Given the description of an element on the screen output the (x, y) to click on. 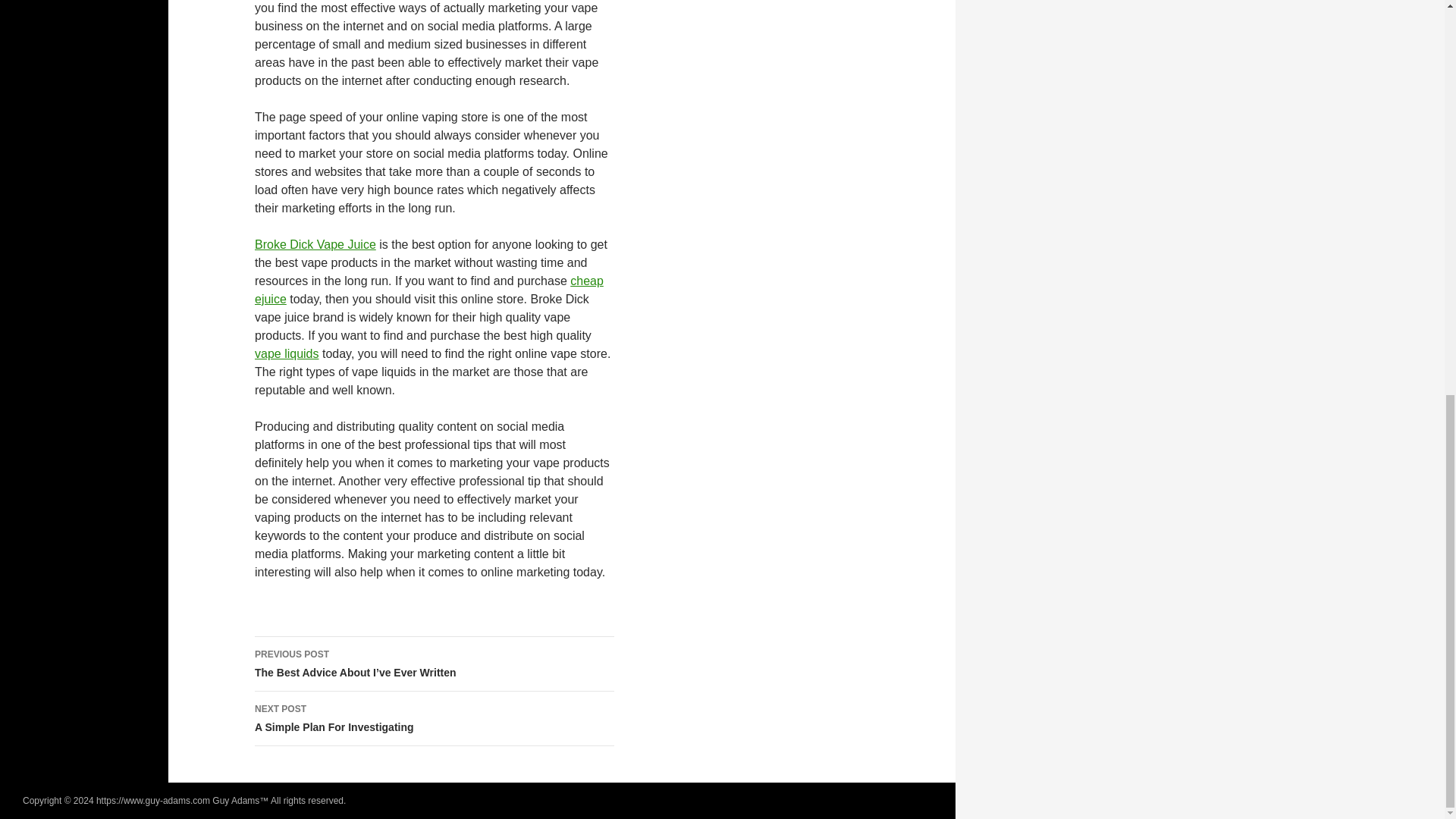
cheap ejuice (429, 289)
Guy Adams (434, 718)
Broke Dick Vape Juice (235, 800)
vape liquids (314, 244)
